Given the description of an element on the screen output the (x, y) to click on. 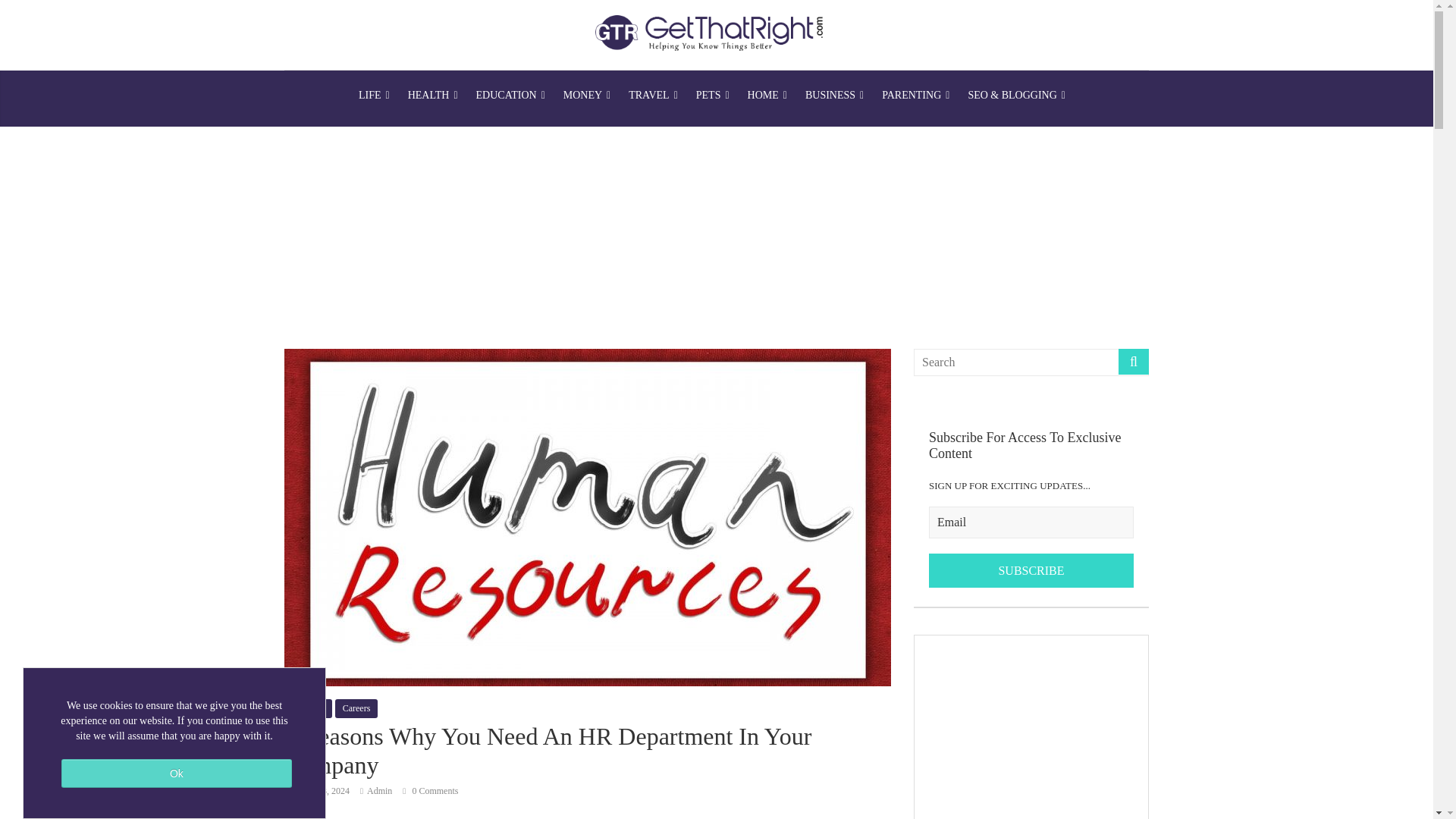
HEALTH (432, 95)
Advertisement (1030, 727)
Admin (378, 790)
HOME (767, 95)
EDUCATION (510, 95)
LIFE (373, 95)
MONEY (587, 95)
TRAVEL (653, 95)
5:27 am (316, 790)
PETS (712, 95)
Subscribe (1031, 570)
